Given the description of an element on the screen output the (x, y) to click on. 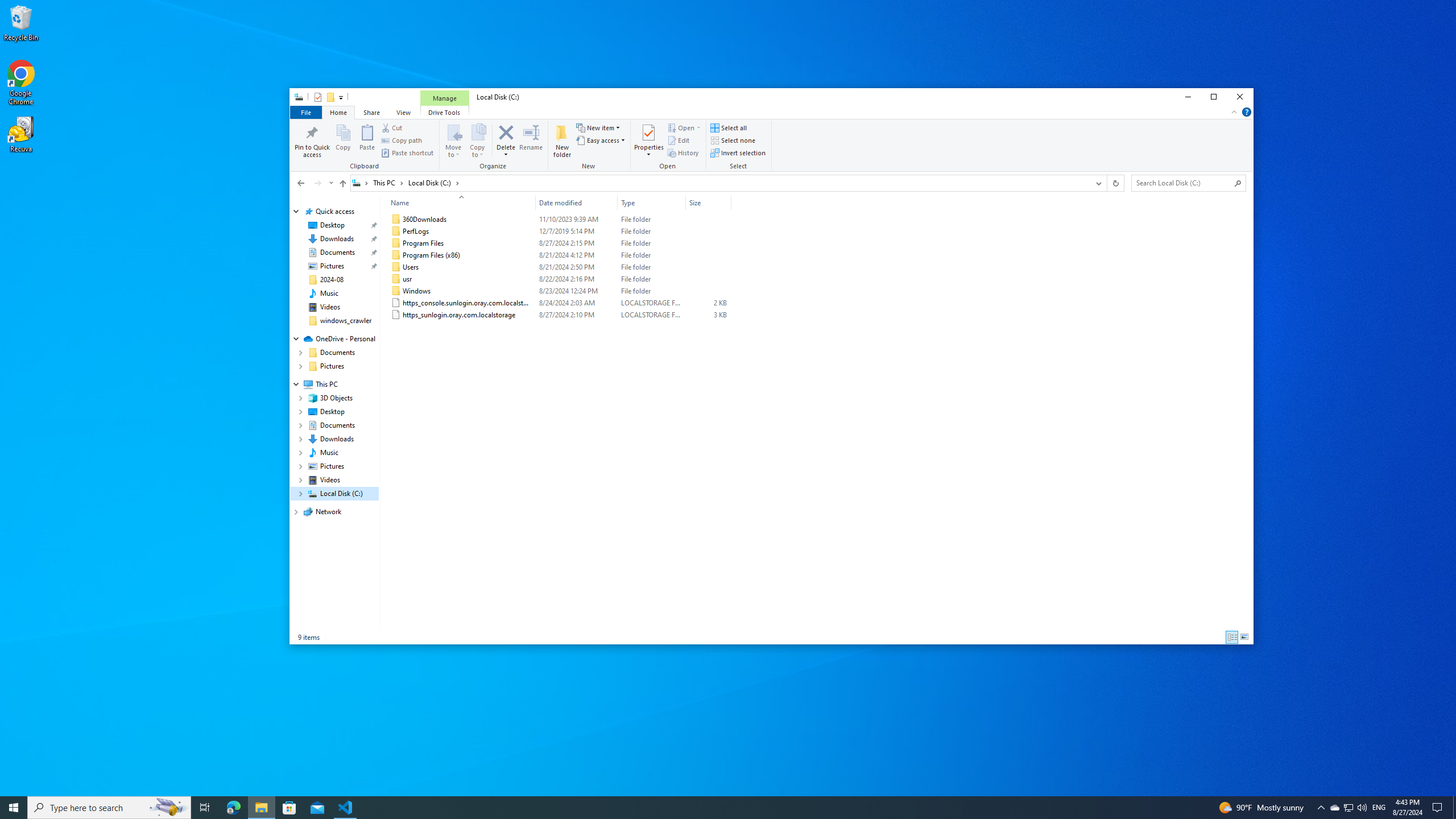
Open (668, 145)
View (403, 111)
Drive Tools (444, 111)
Tray Input Indicator - English (United States) (1378, 807)
Type (651, 202)
Microsoft Store (289, 807)
Music (328, 293)
Documents (pinned) (337, 252)
Desktop (pinned) (332, 224)
Forward (Alt + Right Arrow) (317, 182)
Downloads (pinned) (336, 238)
usr (558, 278)
Size (707, 202)
Refresh "Local Disk (C:)" (F5) (1115, 182)
